Given the description of an element on the screen output the (x, y) to click on. 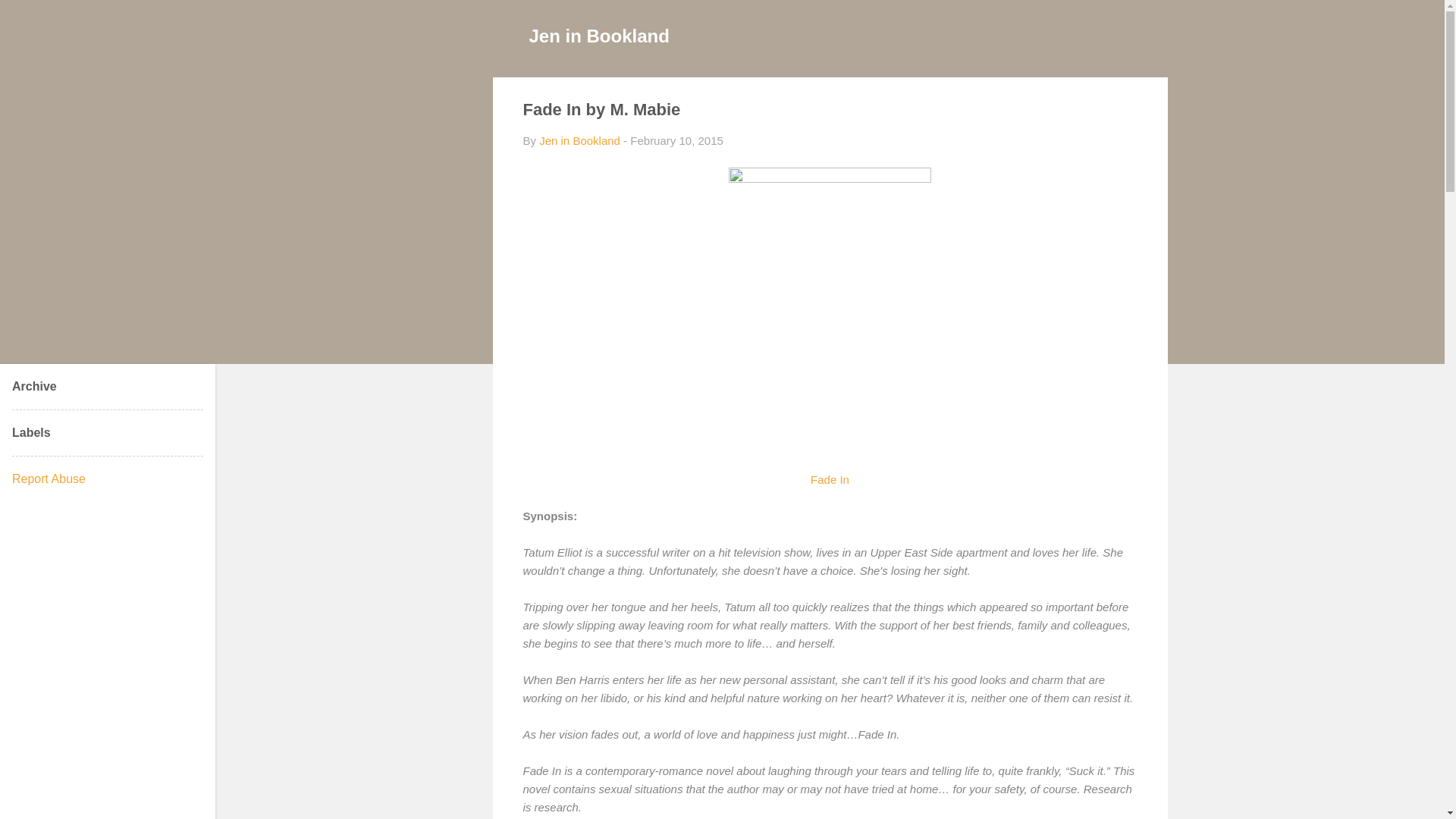
permanent link (676, 140)
Search (29, 18)
author profile (579, 140)
Fade In (829, 479)
February 10, 2015 (676, 140)
Jen in Bookland (599, 35)
Jen in Bookland (579, 140)
